Given the description of an element on the screen output the (x, y) to click on. 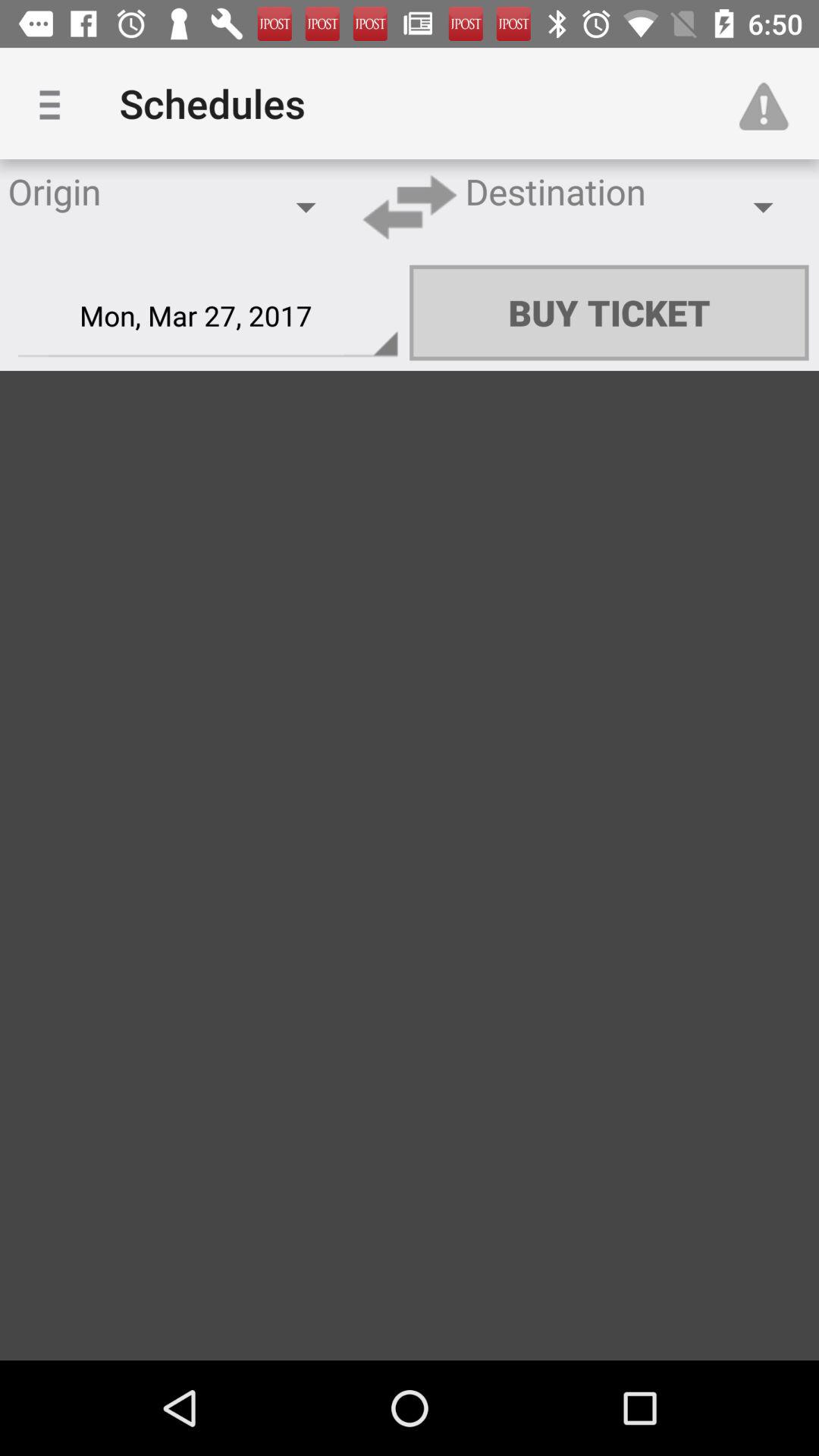
swipe until the mon mar 27 (207, 316)
